Given the description of an element on the screen output the (x, y) to click on. 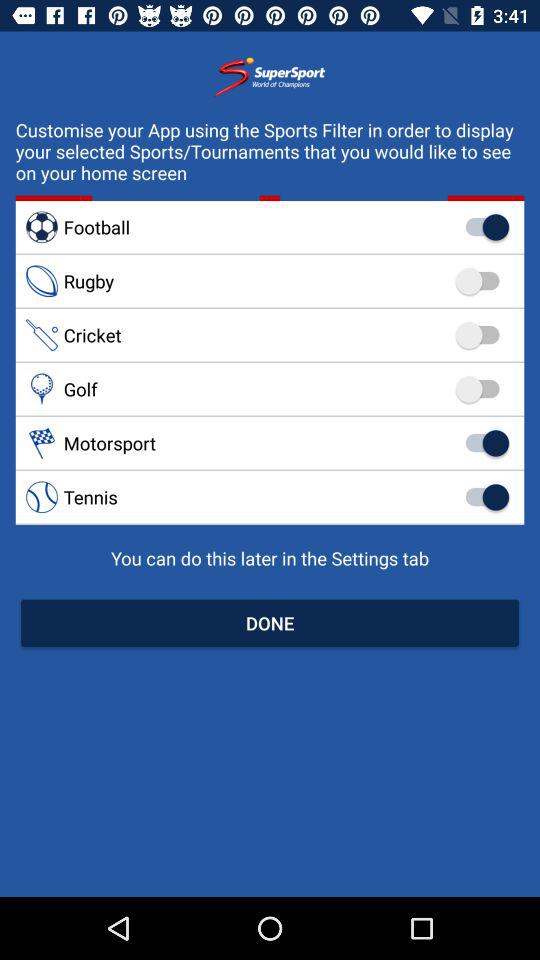
jump to done (269, 622)
